Given the description of an element on the screen output the (x, y) to click on. 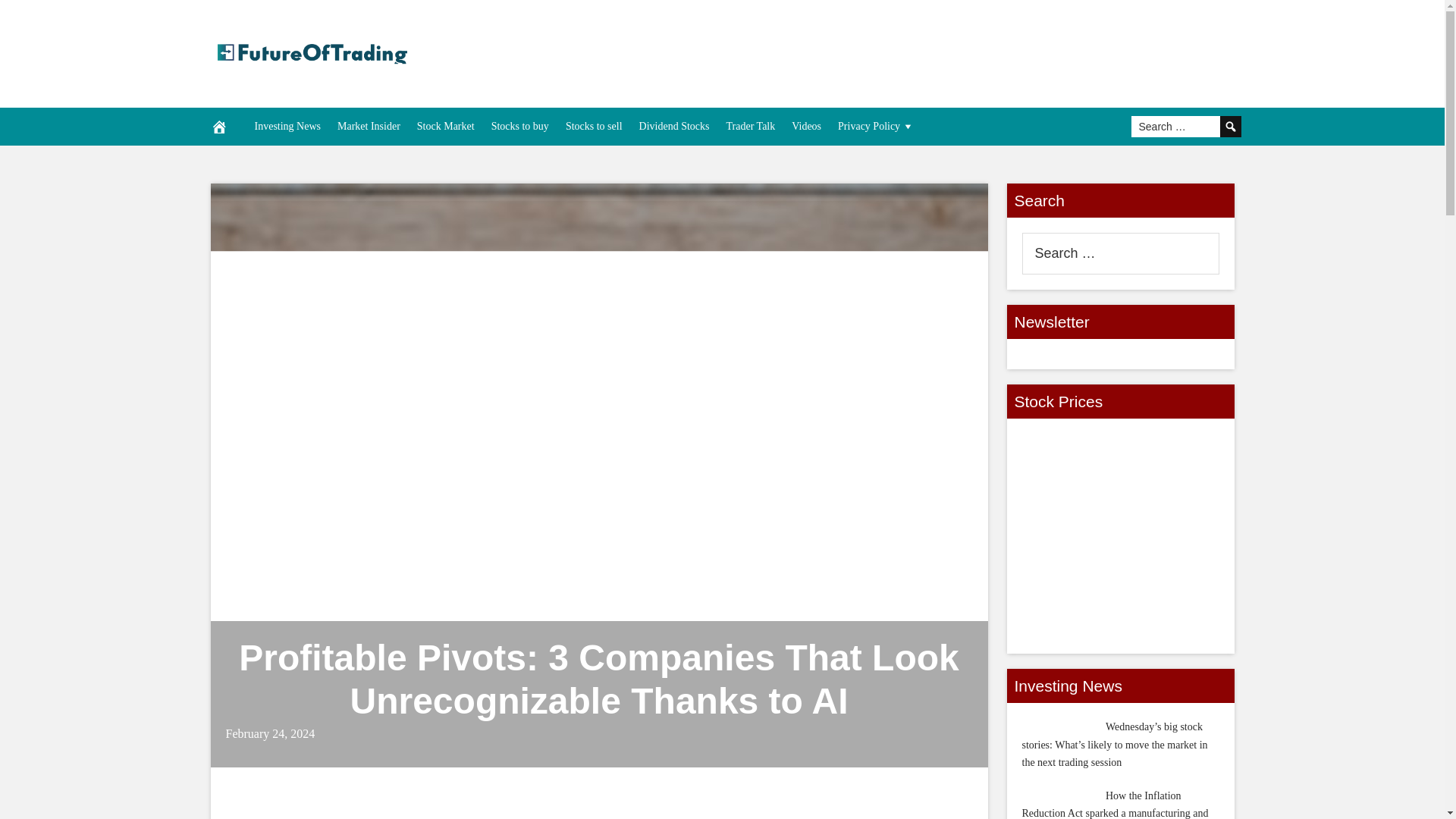
Privacy Policy (876, 126)
Trader Talk (750, 126)
Videos (806, 126)
Market Insider (369, 126)
Investing News (287, 126)
Stocks to buy (520, 126)
Stocks to sell (593, 126)
Stock Market (446, 126)
